Given the description of an element on the screen output the (x, y) to click on. 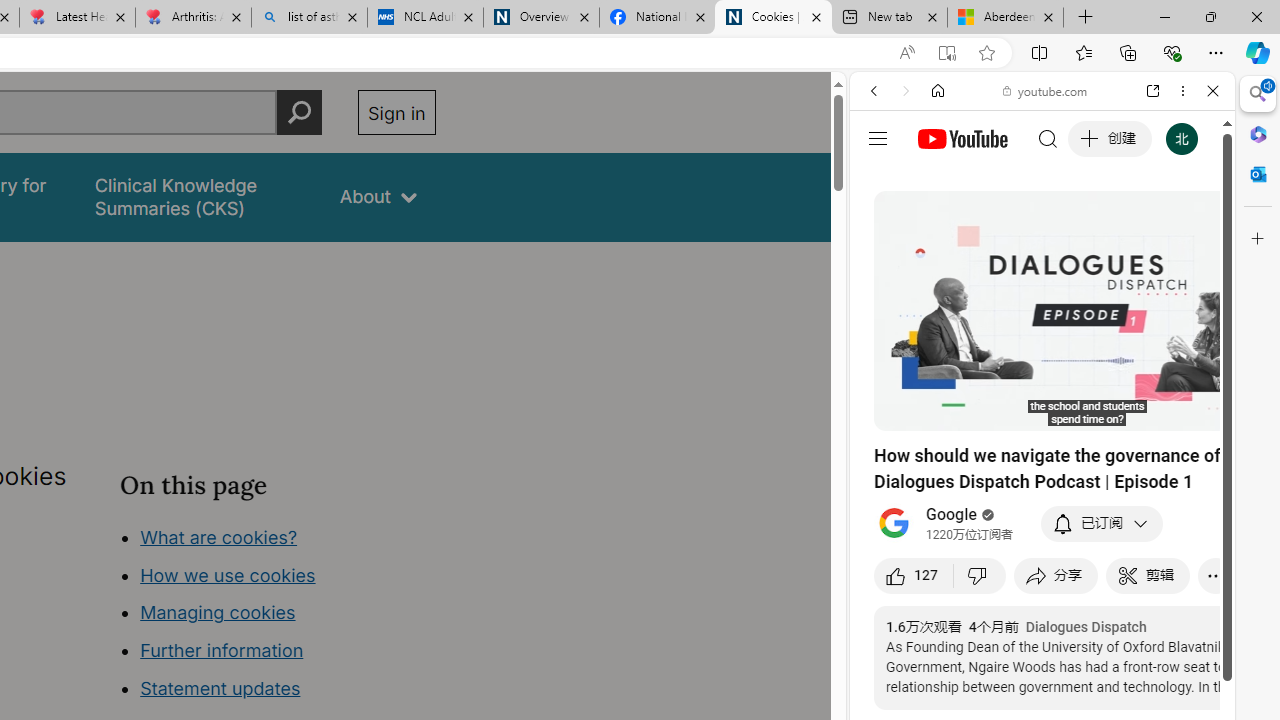
list of asthma inhalers uk - Search (309, 17)
SEARCH TOOLS (1093, 228)
Google (952, 515)
Cookies | About | NICE (772, 17)
YouTube (1034, 296)
